Given the description of an element on the screen output the (x, y) to click on. 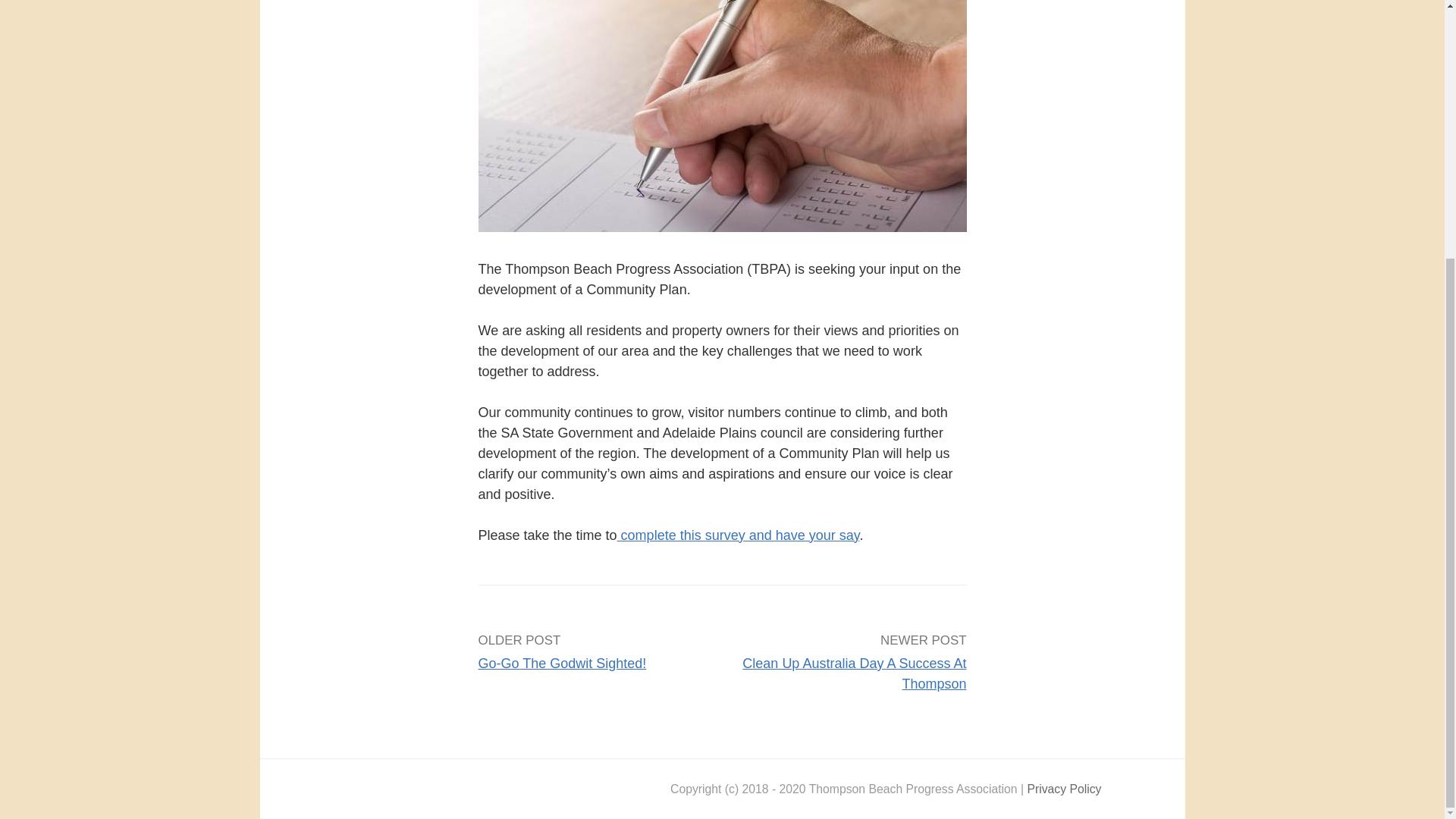
complete this survey and have your say (738, 534)
Clean Up Australia Day A Success At Thompson (854, 673)
Privacy Policy (1063, 788)
Go-Go The Godwit Sighted! (561, 663)
